Given the description of an element on the screen output the (x, y) to click on. 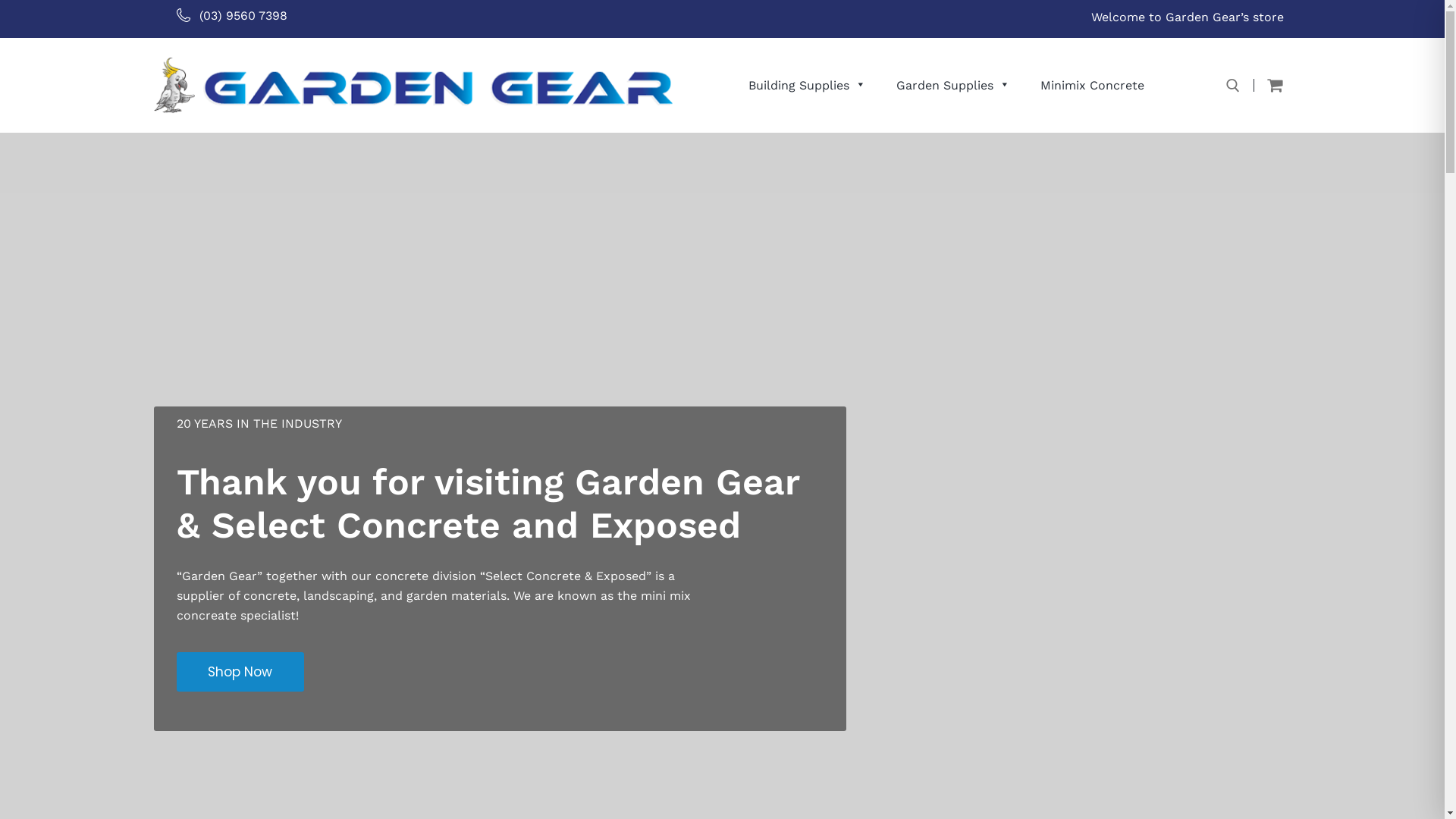
Minimix Concrete Element type: text (1092, 84)
Building Supplies Element type: text (807, 84)
Shop Now Element type: text (239, 671)
(03) 9560 7398 Element type: text (230, 14)
Garden Supplies Element type: text (953, 84)
